Given the description of an element on the screen output the (x, y) to click on. 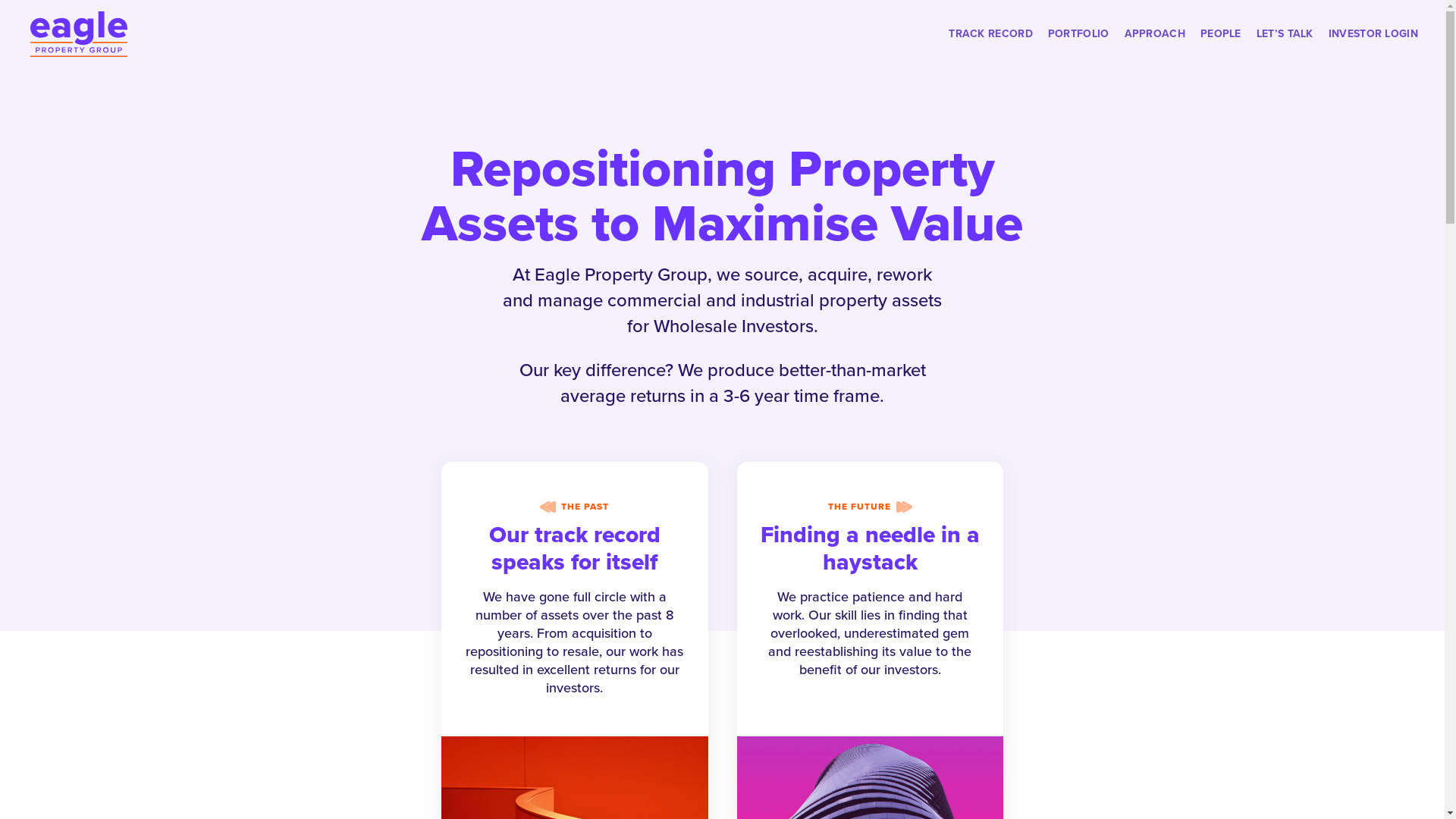
INVESTOR LOGIN Element type: text (1373, 46)
box link Element type: text (870, 682)
PEOPLE Element type: text (1220, 46)
box link Element type: text (574, 701)
APPROACH Element type: text (1154, 46)
TRACK RECORD Element type: text (990, 46)
PORTFOLIO Element type: text (1078, 46)
